Given the description of an element on the screen output the (x, y) to click on. 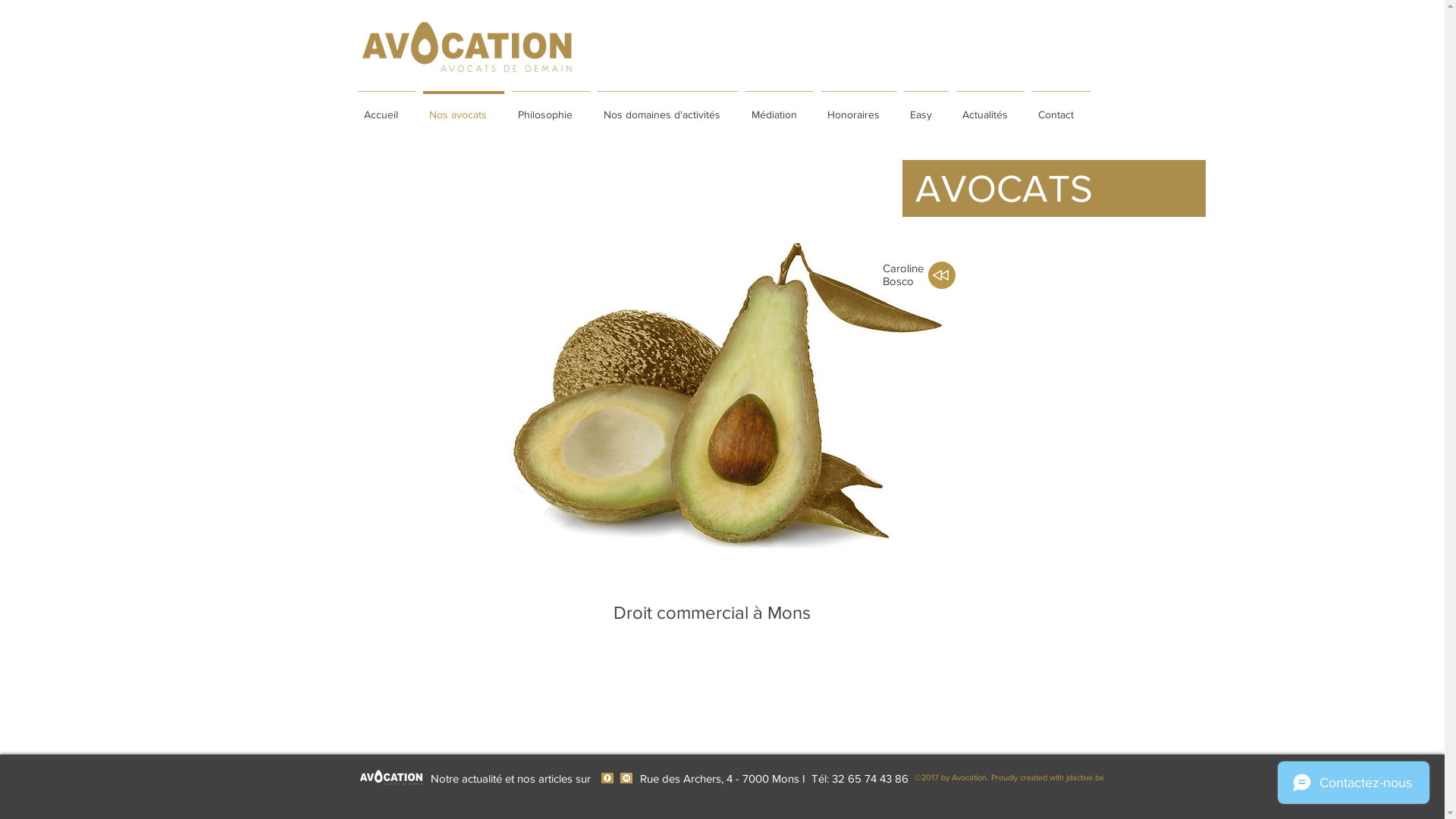
Contact Element type: text (1061, 107)
Nos avocats Element type: text (462, 107)
Easy Element type: text (925, 107)
Nos avocats Element type: hover (727, 380)
Accueil Element type: text (385, 107)
Honoraires Element type: text (858, 107)
Philosophie Element type: text (550, 107)
